Given the description of an element on the screen output the (x, y) to click on. 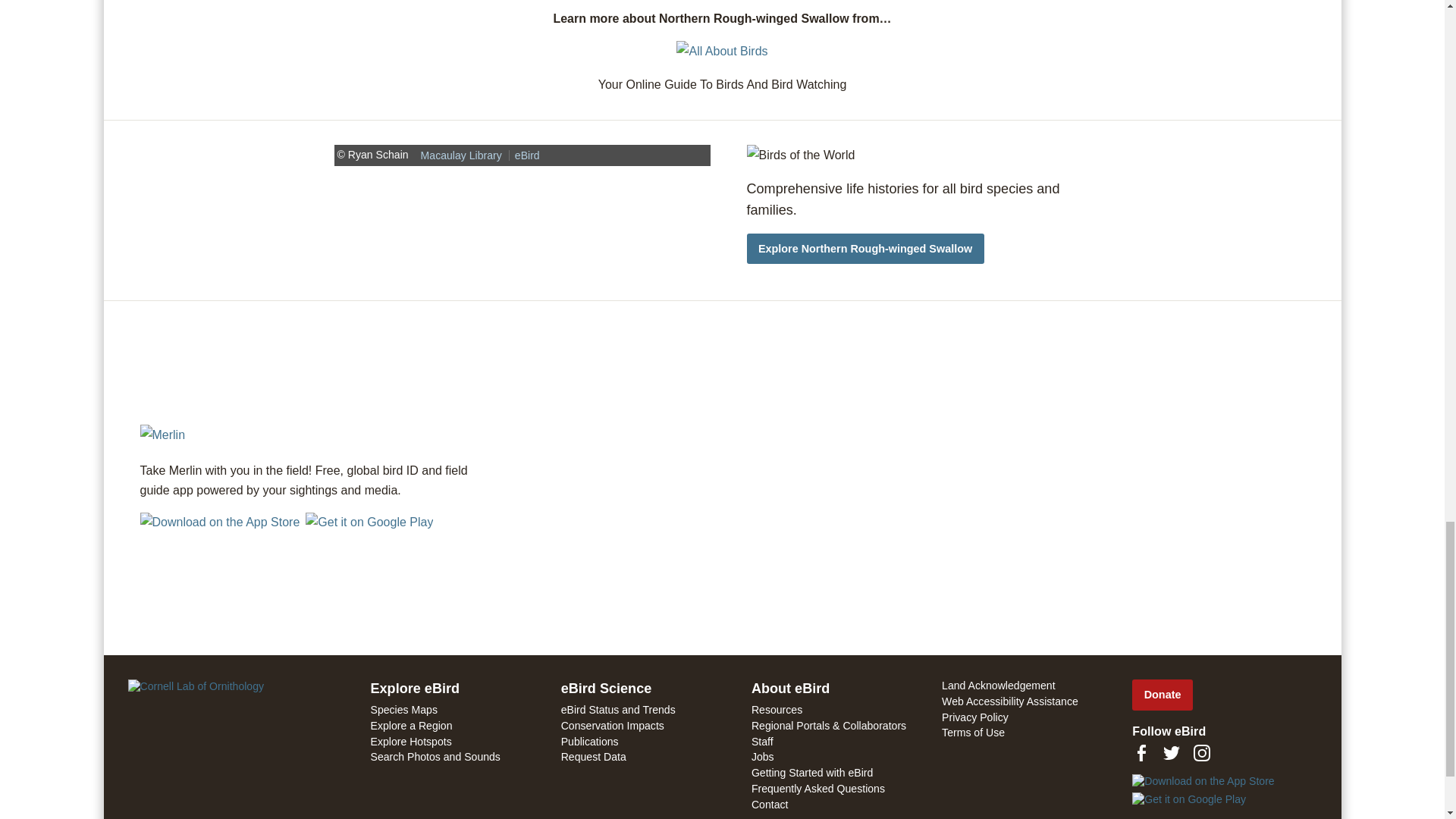
Follow us on Instagram (1201, 752)
Follow us on Twitter (1170, 752)
Find us on Facebook (1141, 752)
